Given the description of an element on the screen output the (x, y) to click on. 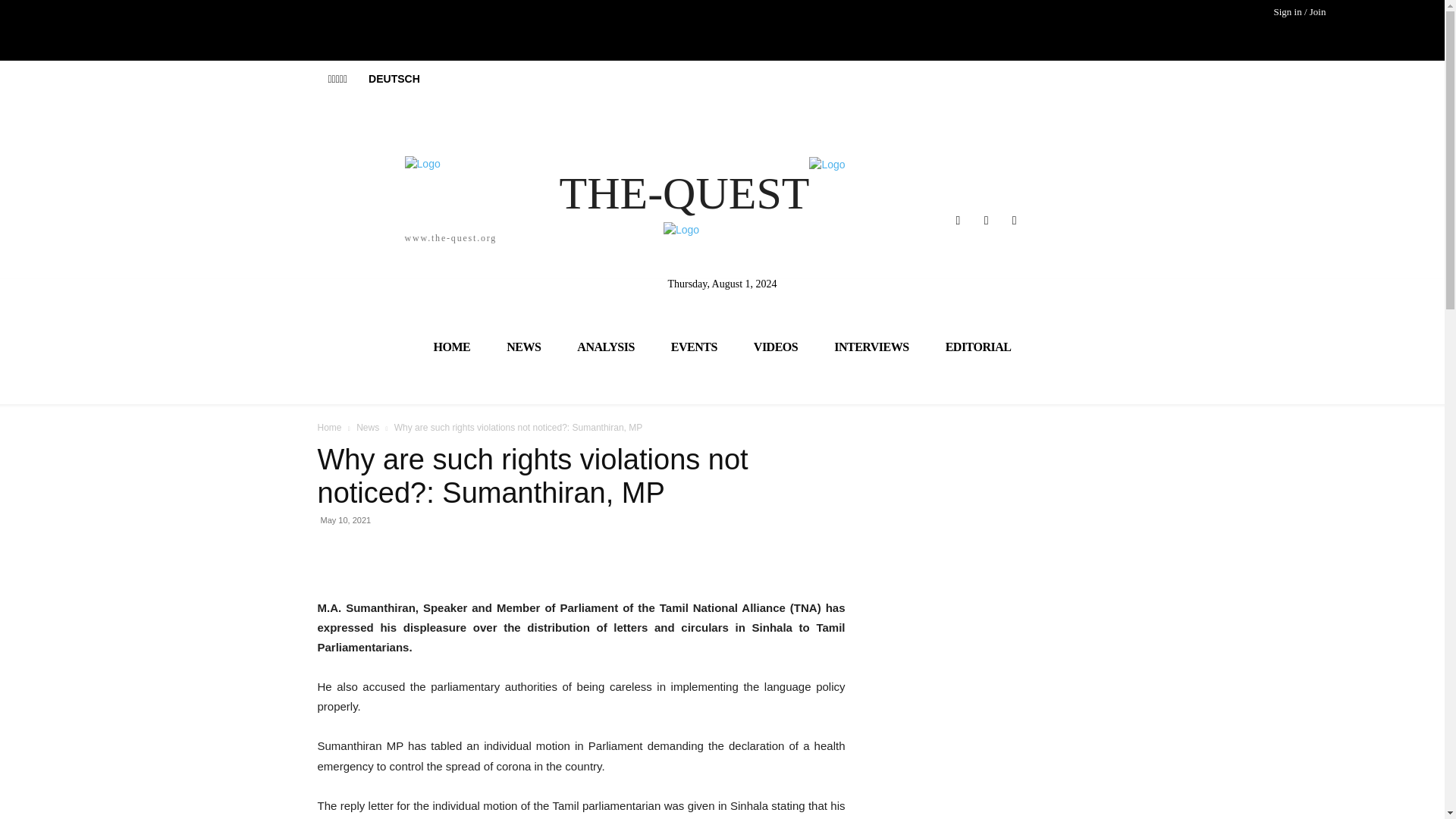
www.the-quest.org (306, 199)
View all posts in News (367, 427)
EDITORIAL (978, 346)
Twitter (985, 219)
VIDEOS (775, 346)
DEUTSCH (394, 78)
Facebook (957, 219)
INTERVIEWS (870, 346)
EVENTS (693, 346)
HOME (451, 346)
THE-QUEST (721, 187)
ANALYSIS (605, 346)
NEWS (523, 346)
Youtube (1014, 219)
